Given the description of an element on the screen output the (x, y) to click on. 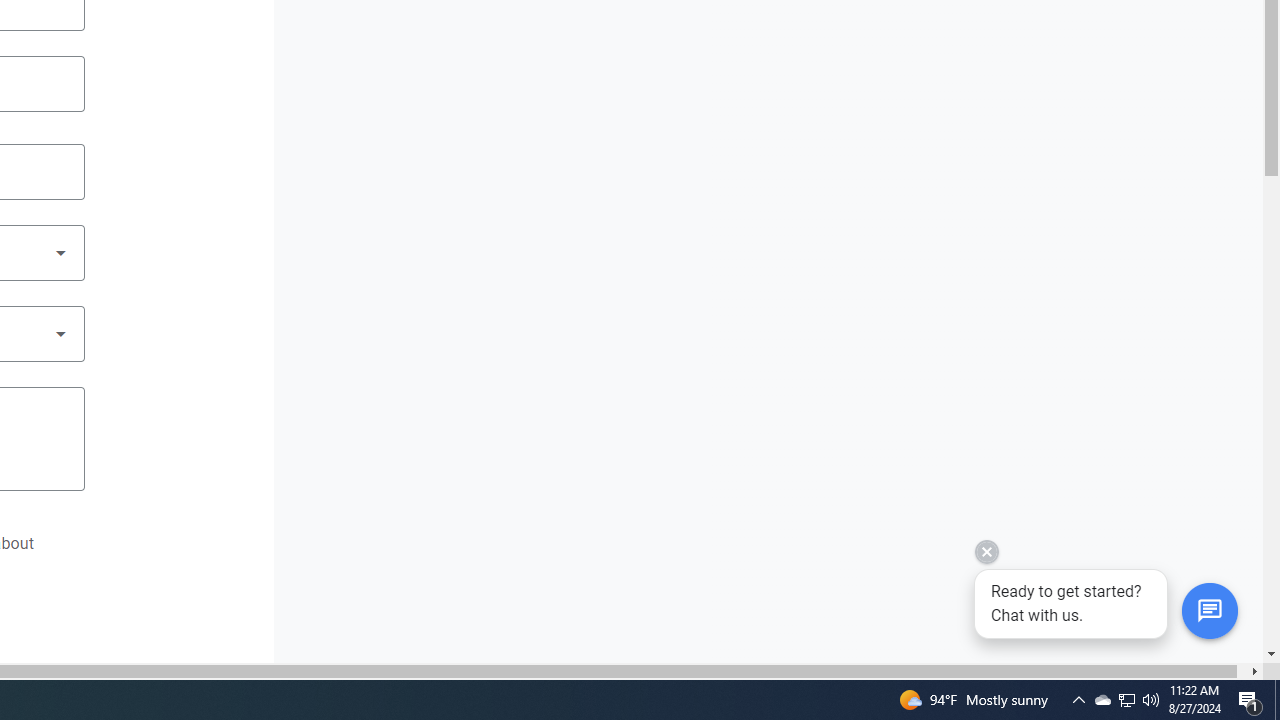
Button to activate chat (1209, 611)
